Given the description of an element on the screen output the (x, y) to click on. 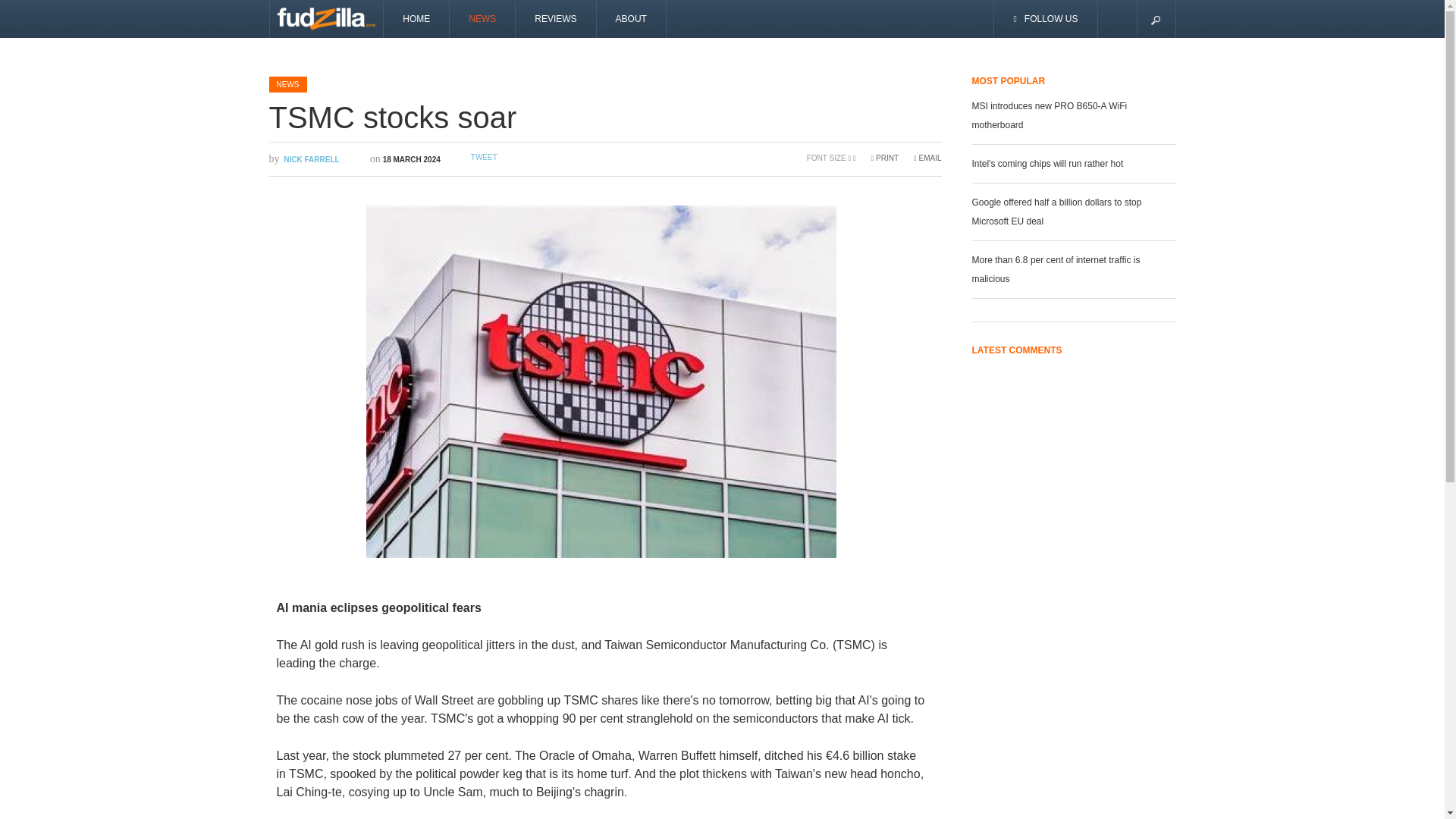
NEWS (287, 84)
ABOUT (631, 18)
NEWS (482, 18)
EMAIL (927, 157)
HOME (416, 18)
MSI introduces new PRO B650-A WiFi motherboard (1049, 114)
NICK FARRELL (311, 159)
FOLLOW US (1045, 18)
Intel's coming chips will run rather hot (1048, 163)
Fudzilla (326, 18)
TWEET (483, 157)
REVIEWS (555, 18)
PRINT (884, 157)
